Given the description of an element on the screen output the (x, y) to click on. 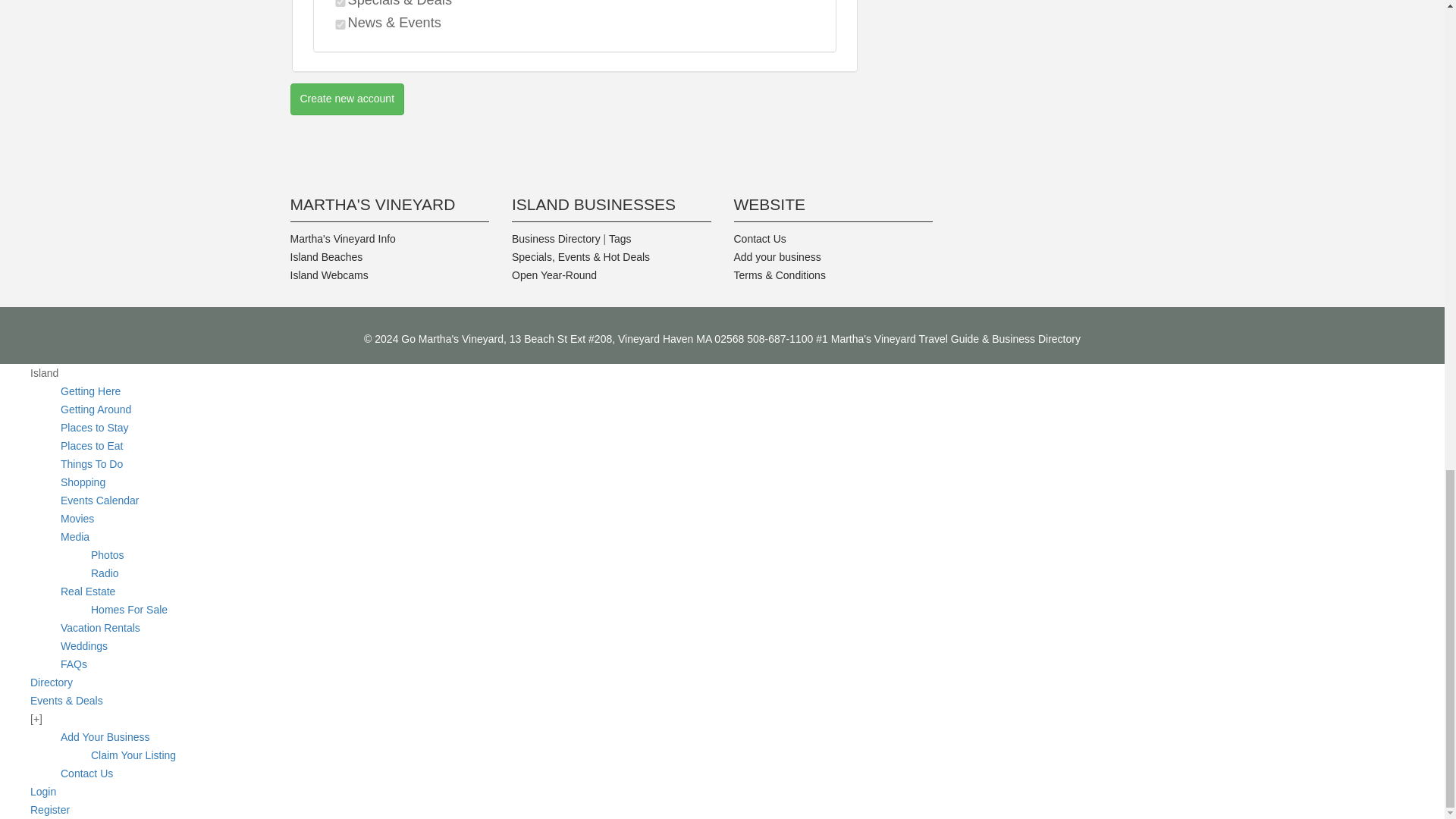
Tags (619, 238)
6d940153bd (339, 3)
Create new account (346, 99)
8b5c659bee (339, 24)
Open Year-Round (554, 275)
Island Webcams (328, 275)
Island Beaches (325, 256)
Martha's Vineyard Info (341, 238)
Business Directory (555, 238)
